Given the description of an element on the screen output the (x, y) to click on. 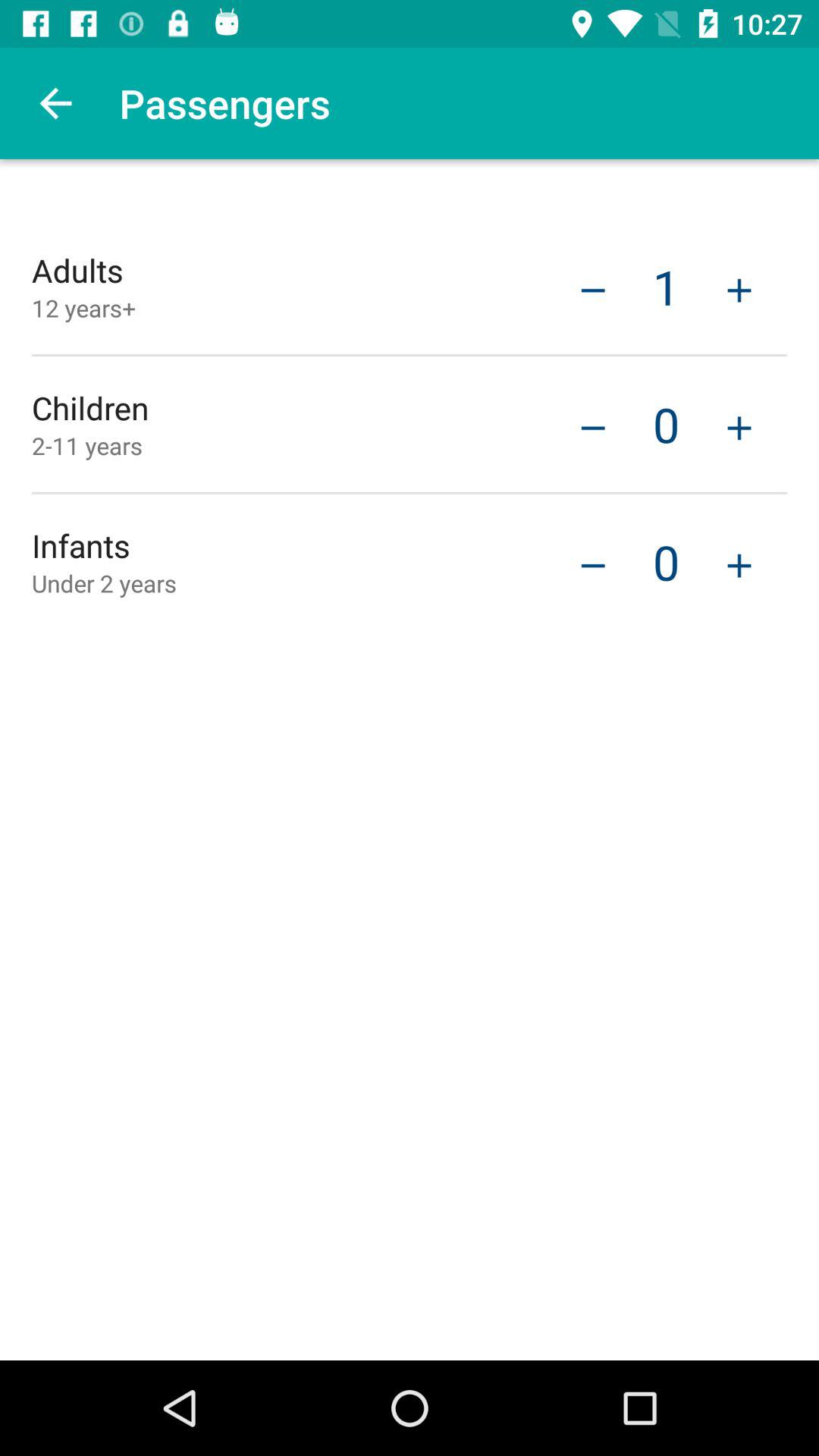
minus symbol (592, 426)
